Given the description of an element on the screen output the (x, y) to click on. 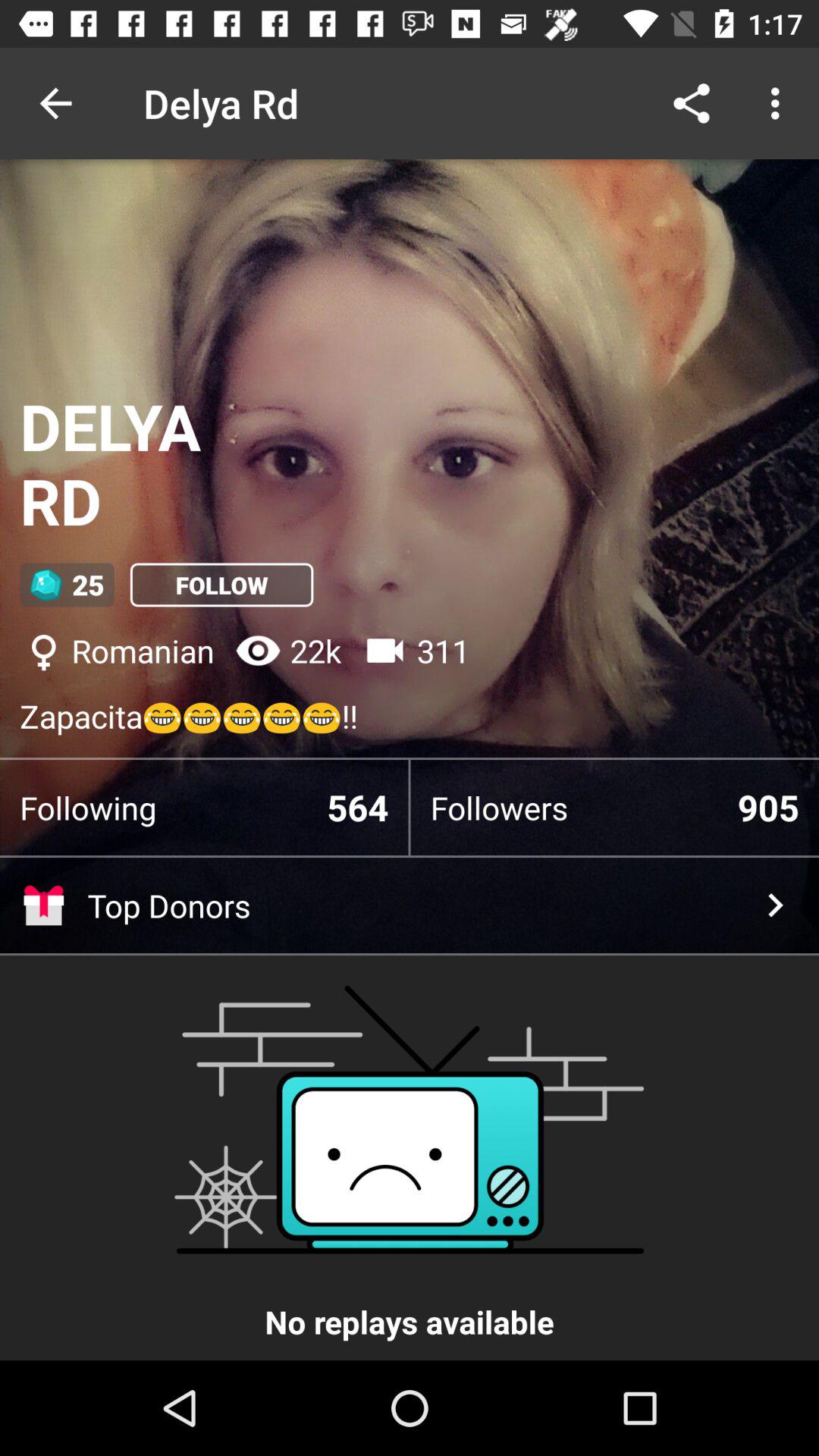
tap icon next to the 25 (221, 584)
